Given the description of an element on the screen output the (x, y) to click on. 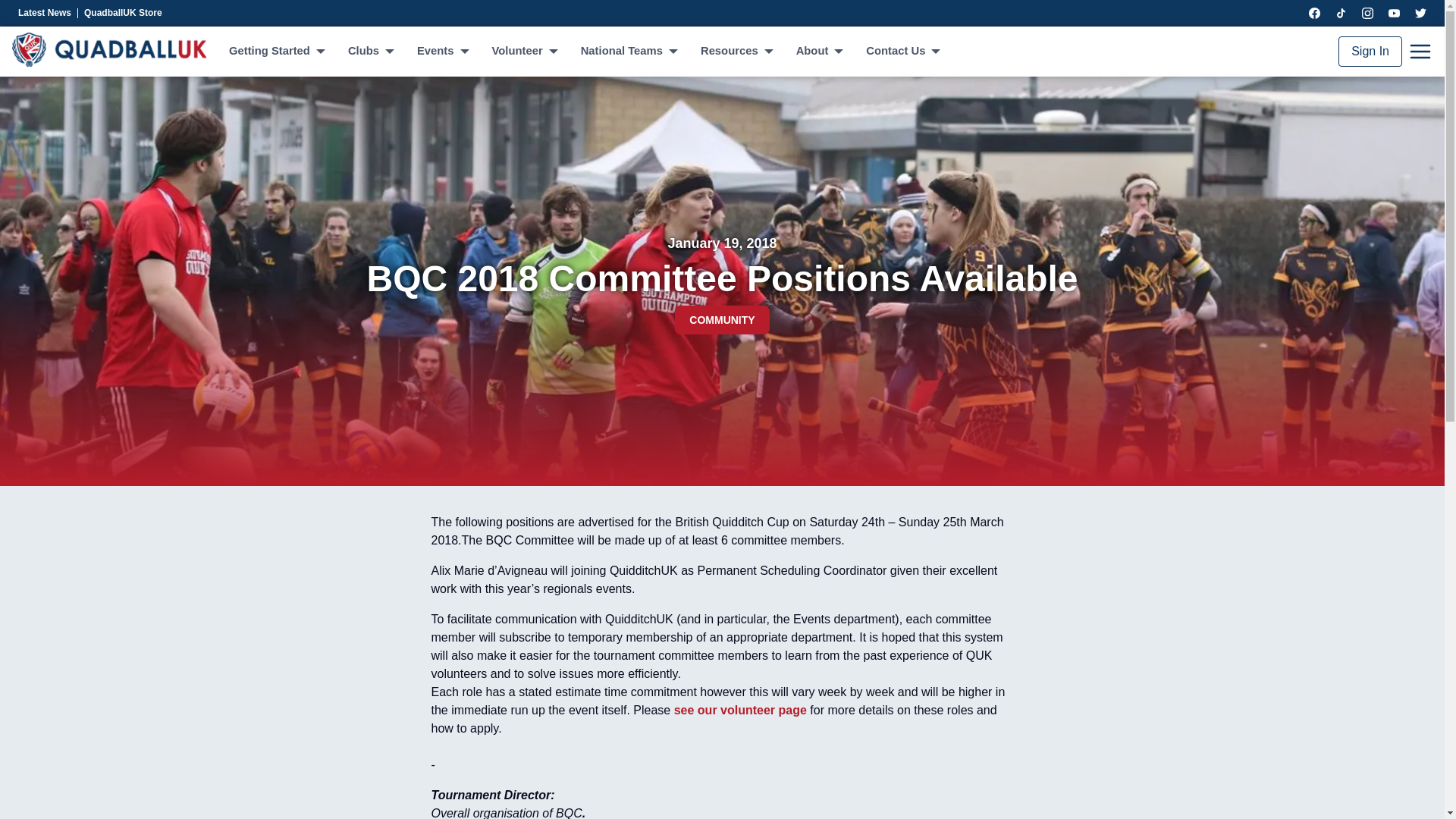
Latest News (47, 13)
About (819, 51)
National Teams (628, 51)
Events (441, 51)
Clubs (370, 51)
Volunteer (524, 51)
QuadballUK Store (126, 13)
Resources (735, 51)
Getting Started (275, 51)
